Given the description of an element on the screen output the (x, y) to click on. 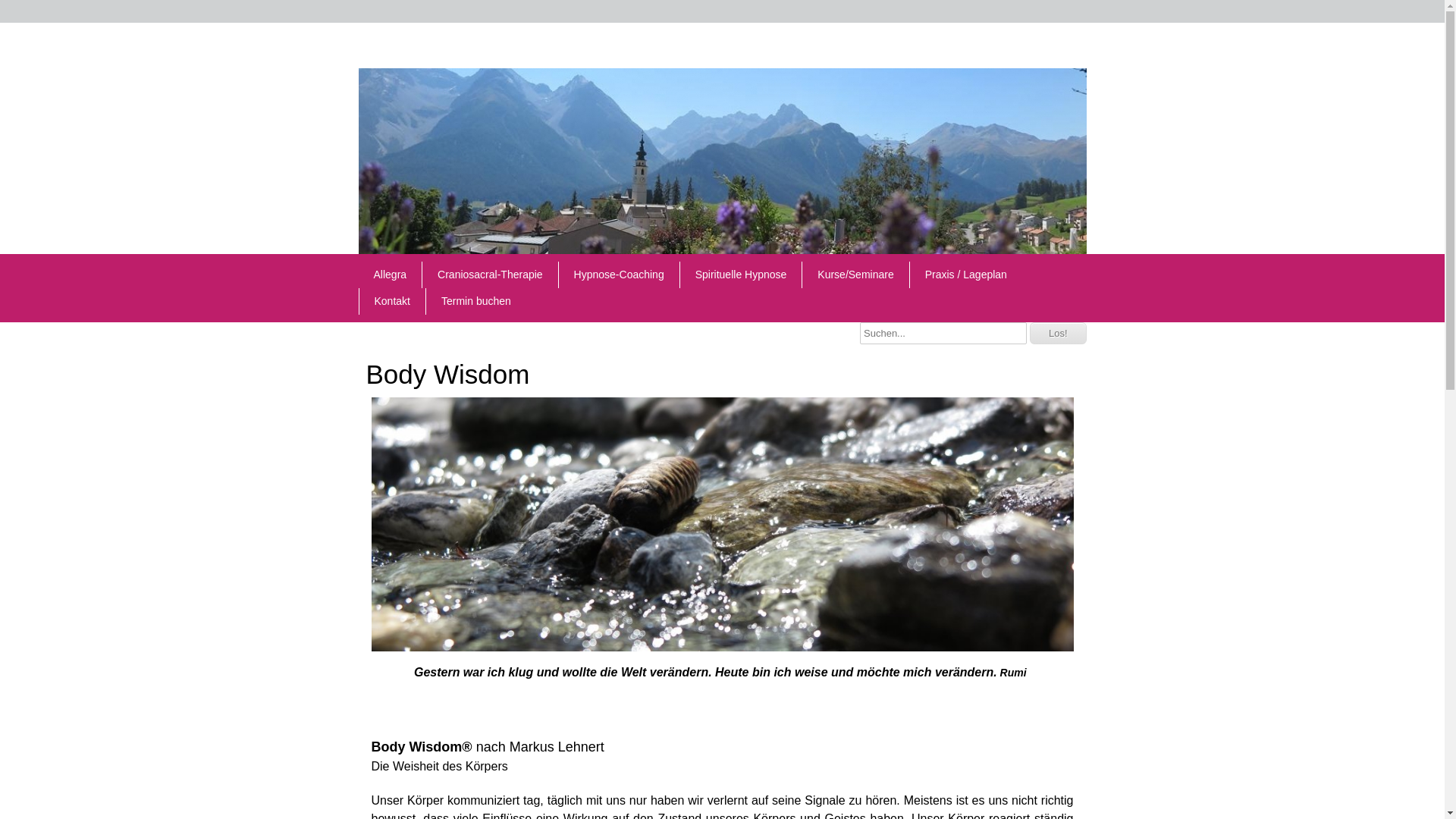
Spirituelle Hypnose Element type: text (741, 274)
Los! Element type: text (1057, 333)
Hypnose-Coaching Element type: text (618, 274)
Kurse/Seminare Element type: text (855, 274)
Praxis / Lageplan Element type: text (966, 274)
Craniosacral-Therapie Element type: text (490, 274)
Termin buchen Element type: text (476, 301)
Allegra Element type: text (389, 274)
Kontakt Element type: text (392, 301)
